Given the description of an element on the screen output the (x, y) to click on. 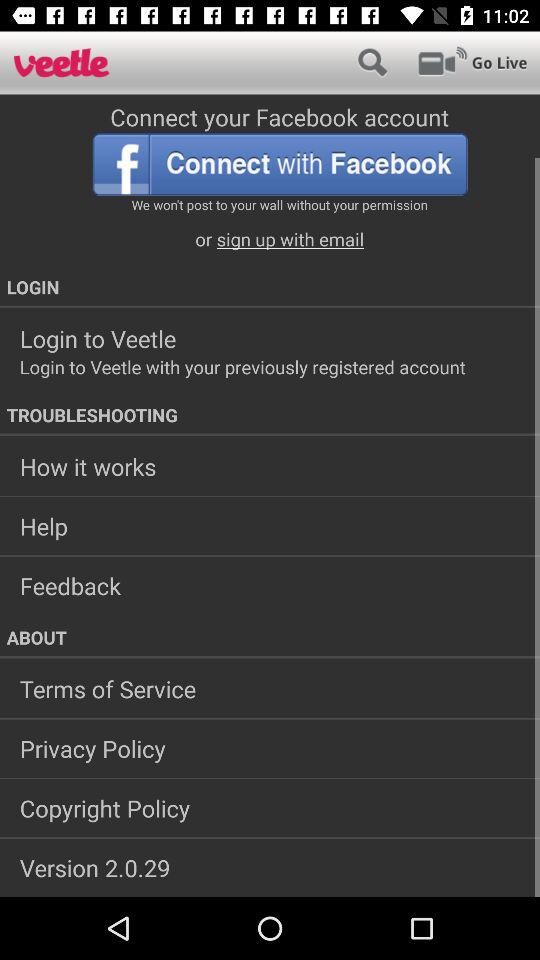
swipe until the privacy policy item (270, 748)
